Given the description of an element on the screen output the (x, y) to click on. 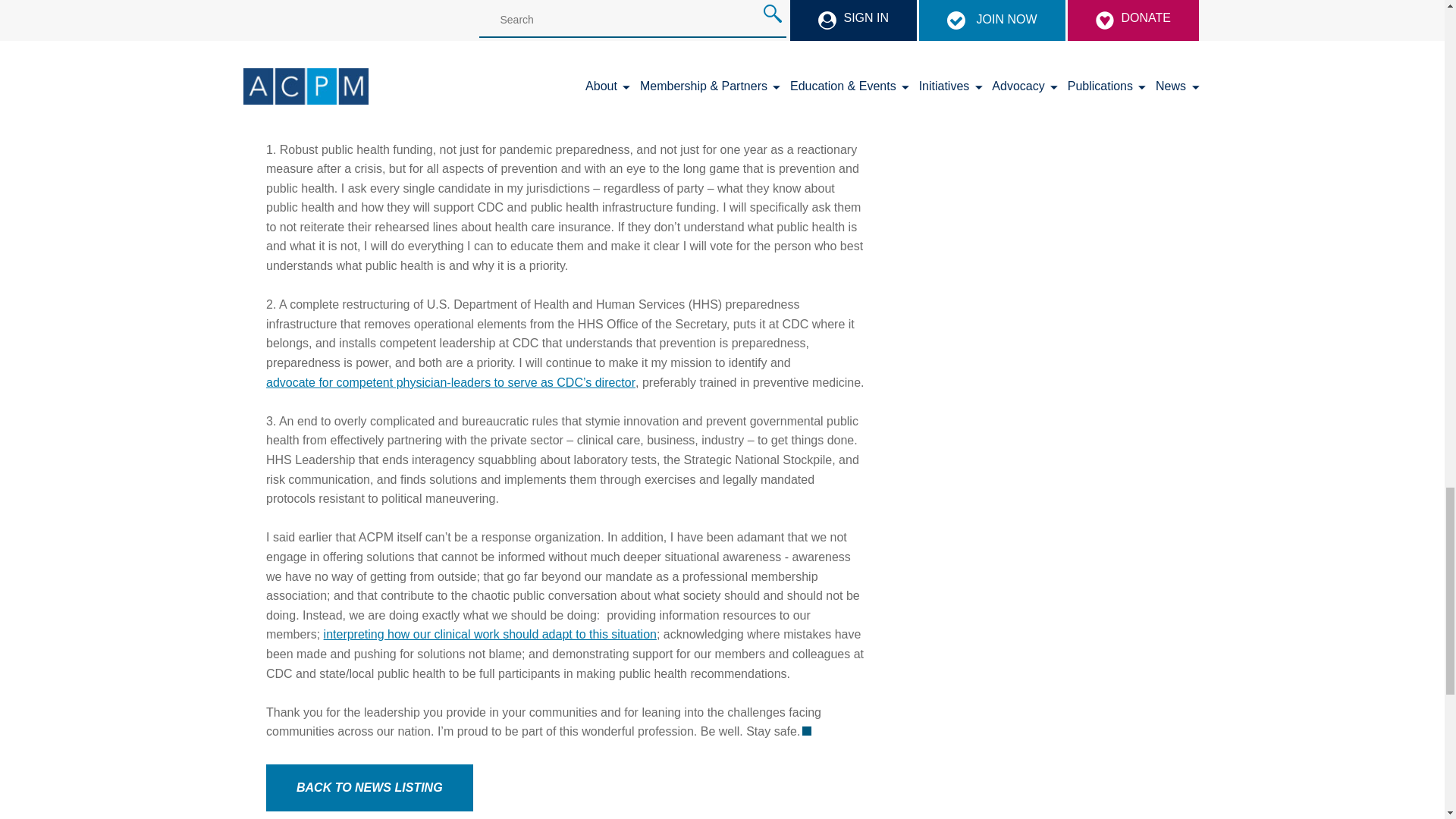
back (369, 787)
